Given the description of an element on the screen output the (x, y) to click on. 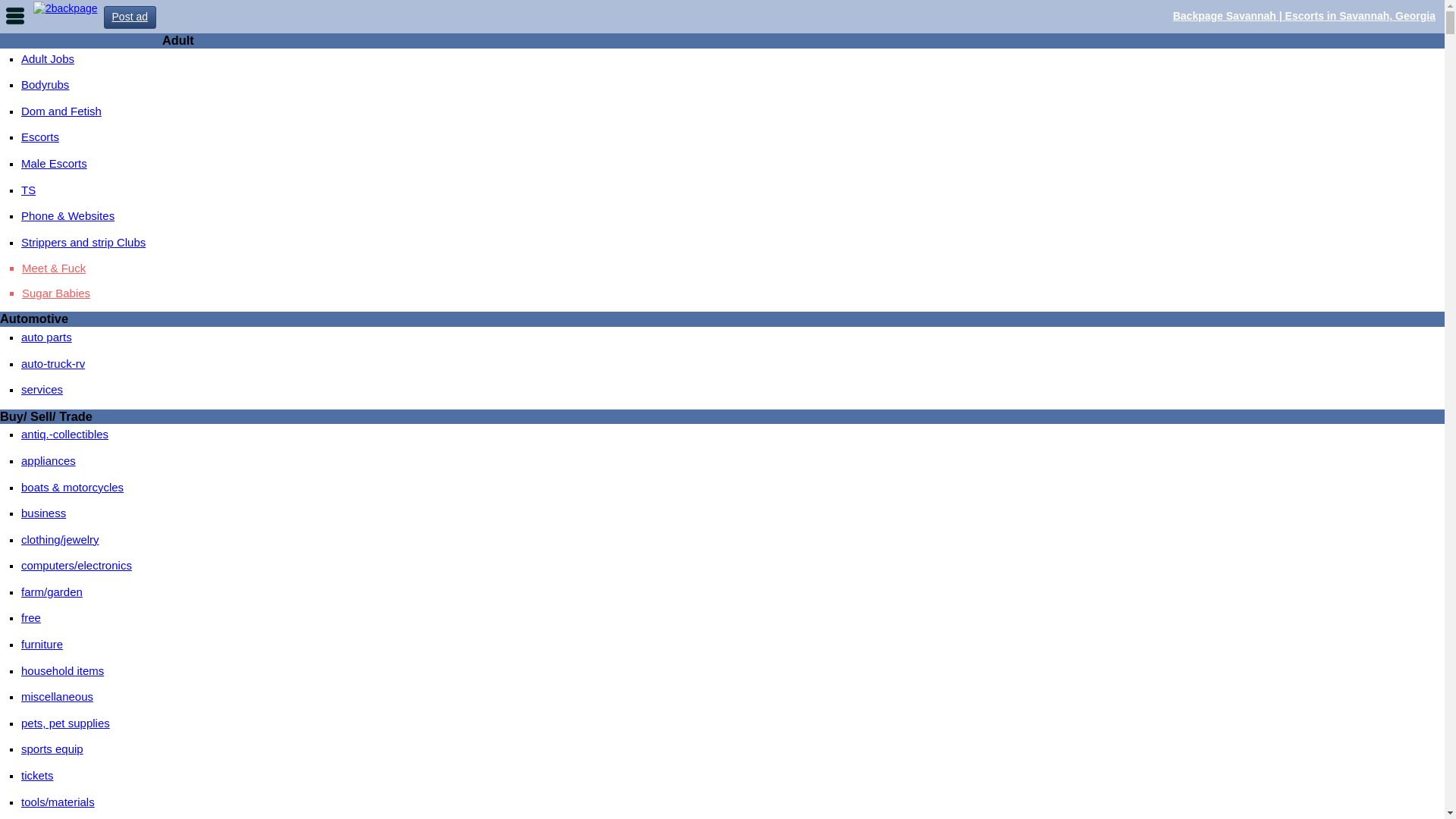
clothing/jewelry Element type: text (60, 539)
nav Element type: text (15, 15)
2backpage Element type: hover (65, 8)
TS Element type: text (28, 189)
Adult Jobs Element type: text (47, 58)
auto-truck-rv Element type: text (52, 363)
Sugar Babies Element type: text (732, 293)
free Element type: text (30, 617)
Post ad Element type: text (129, 17)
Bodyrubs Element type: text (45, 84)
household items Element type: text (62, 670)
auto parts Element type: text (46, 336)
tools/materials Element type: text (57, 801)
Backpage Savannah | Escorts in Savannah, Georgia Element type: text (1304, 15)
computers/electronics Element type: text (76, 564)
furniture Element type: text (41, 643)
business Element type: text (43, 512)
services Element type: text (41, 388)
boats & motorcycles Element type: text (72, 486)
appliances Element type: text (48, 460)
miscellaneous Element type: text (57, 696)
Dom and Fetish Element type: text (61, 110)
Meet & Fuck Element type: text (732, 268)
pets, pet supplies Element type: text (65, 722)
Phone & Websites Element type: text (67, 215)
Strippers and strip Clubs Element type: text (83, 241)
Male Escorts Element type: text (54, 162)
tickets Element type: text (37, 774)
farm/garden Element type: text (51, 591)
sports equip Element type: text (52, 748)
Escorts Element type: text (40, 136)
antiq.-collectibles Element type: text (64, 433)
